Given the description of an element on the screen output the (x, y) to click on. 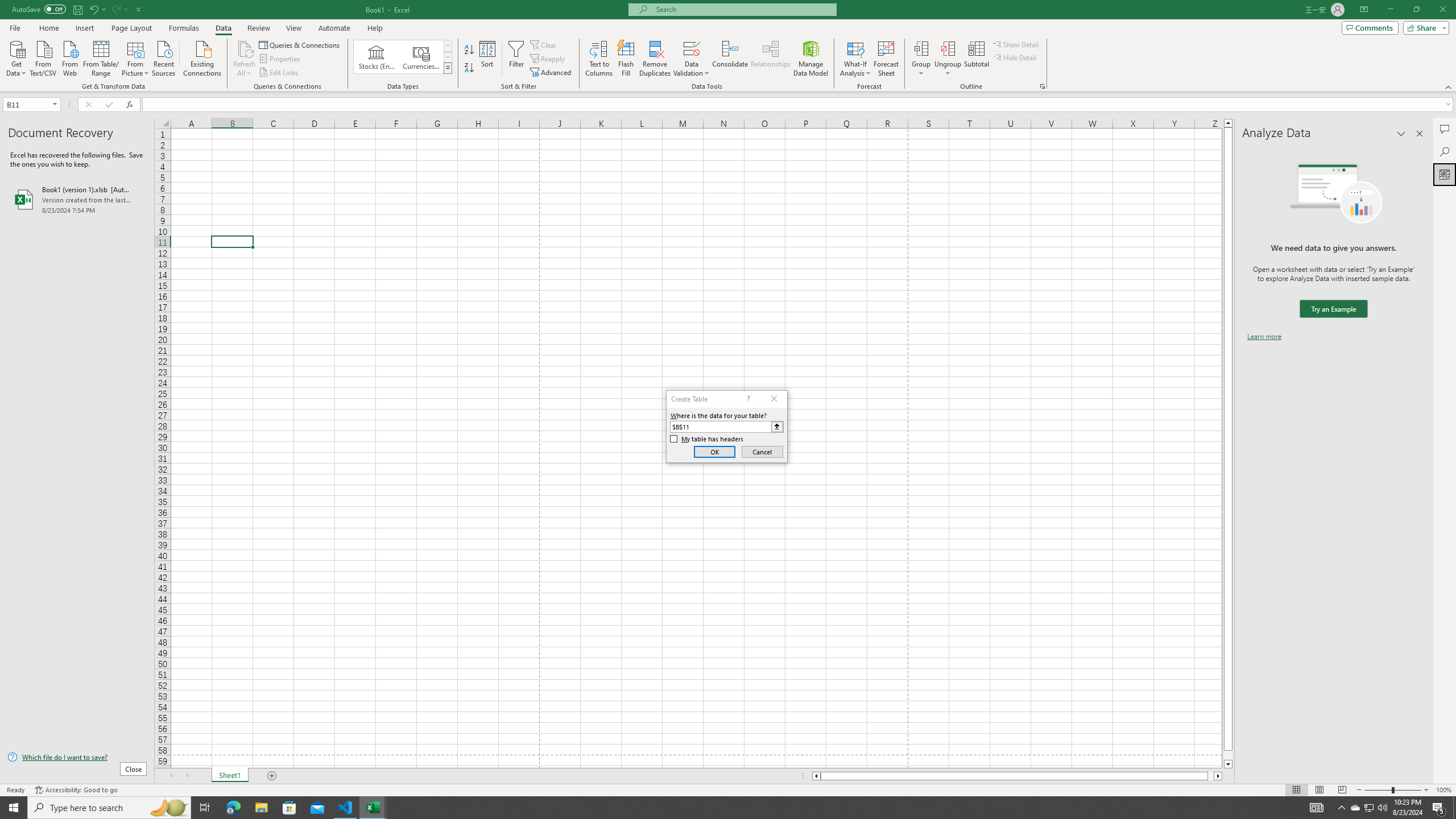
Learn more (1264, 336)
